Given the description of an element on the screen output the (x, y) to click on. 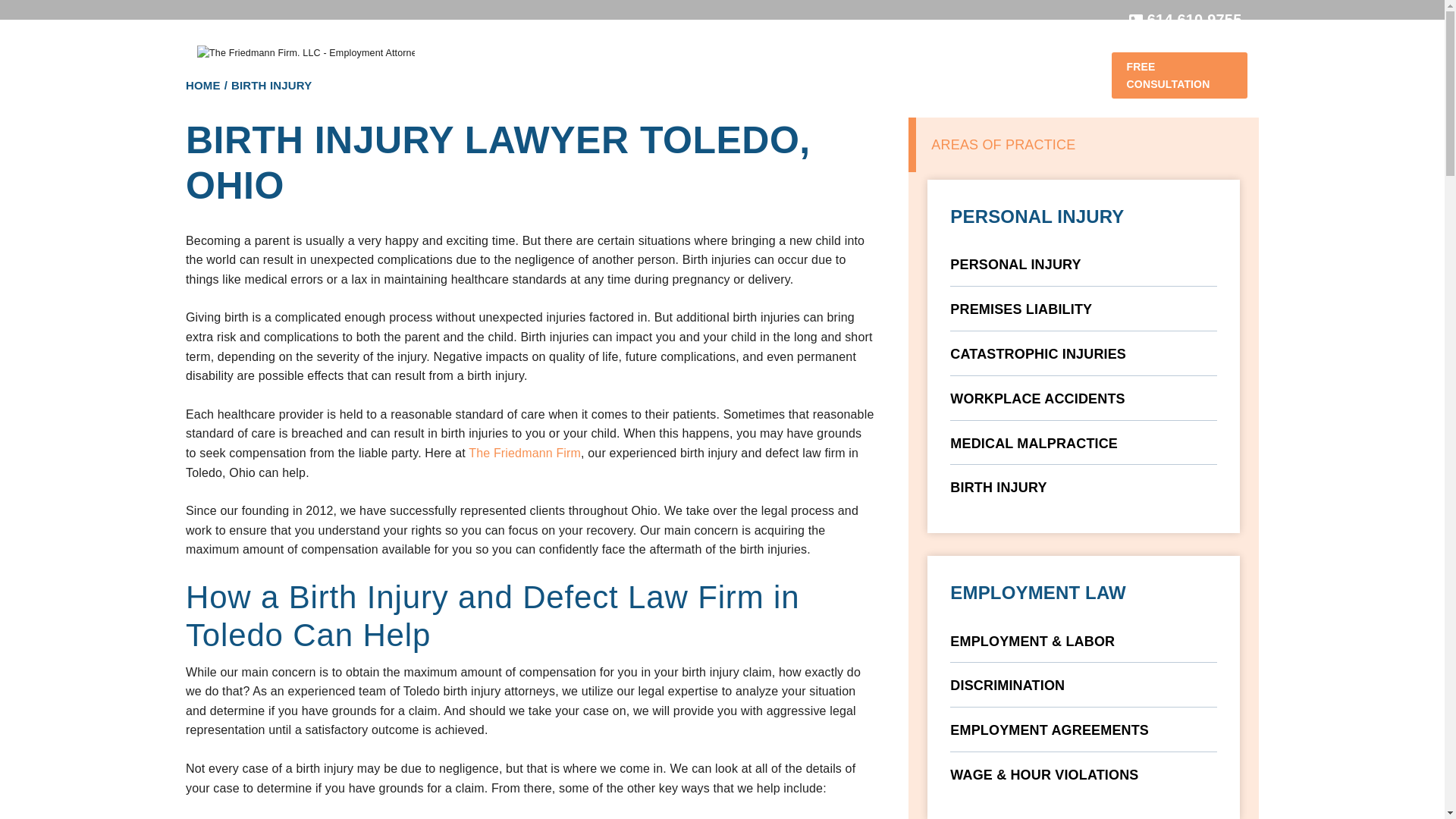
614.610.9755 (1185, 19)
EMPLOYMENT LAW (566, 58)
The Friedmann Firm. LLC - Employment Attorneys (305, 52)
ABOUT (458, 58)
PERSONAL INJURY (710, 58)
